Given the description of an element on the screen output the (x, y) to click on. 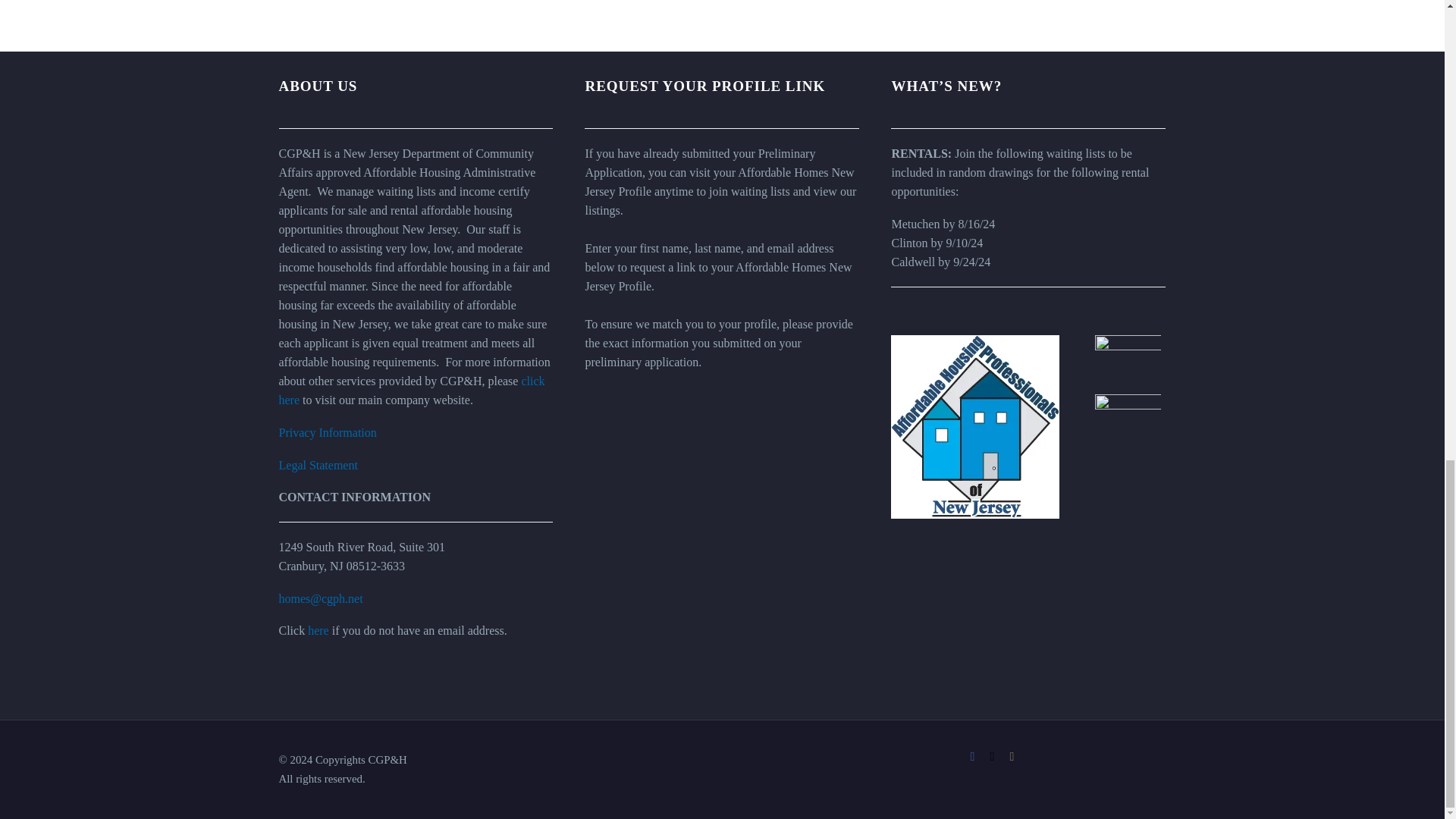
Facebook (972, 756)
Legal Statement (318, 464)
Instagram (1011, 756)
here (318, 630)
Privacy Information (328, 431)
Twitter (991, 756)
click here (411, 390)
